Given the description of an element on the screen output the (x, y) to click on. 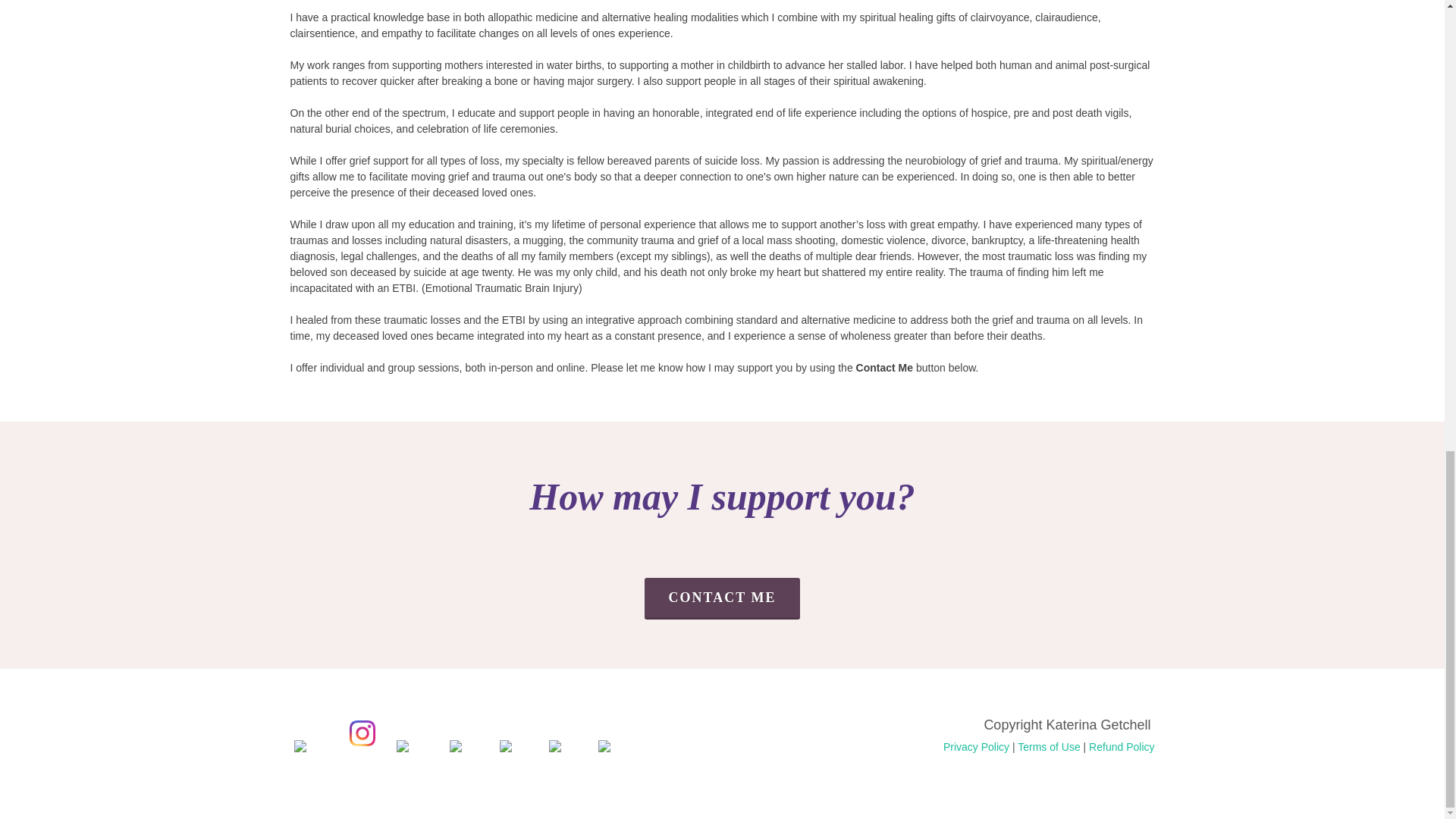
Refund Policy (1121, 745)
CONTACT ME (722, 598)
Terms of Use (1048, 746)
Privacy Policy (976, 745)
